Given the description of an element on the screen output the (x, y) to click on. 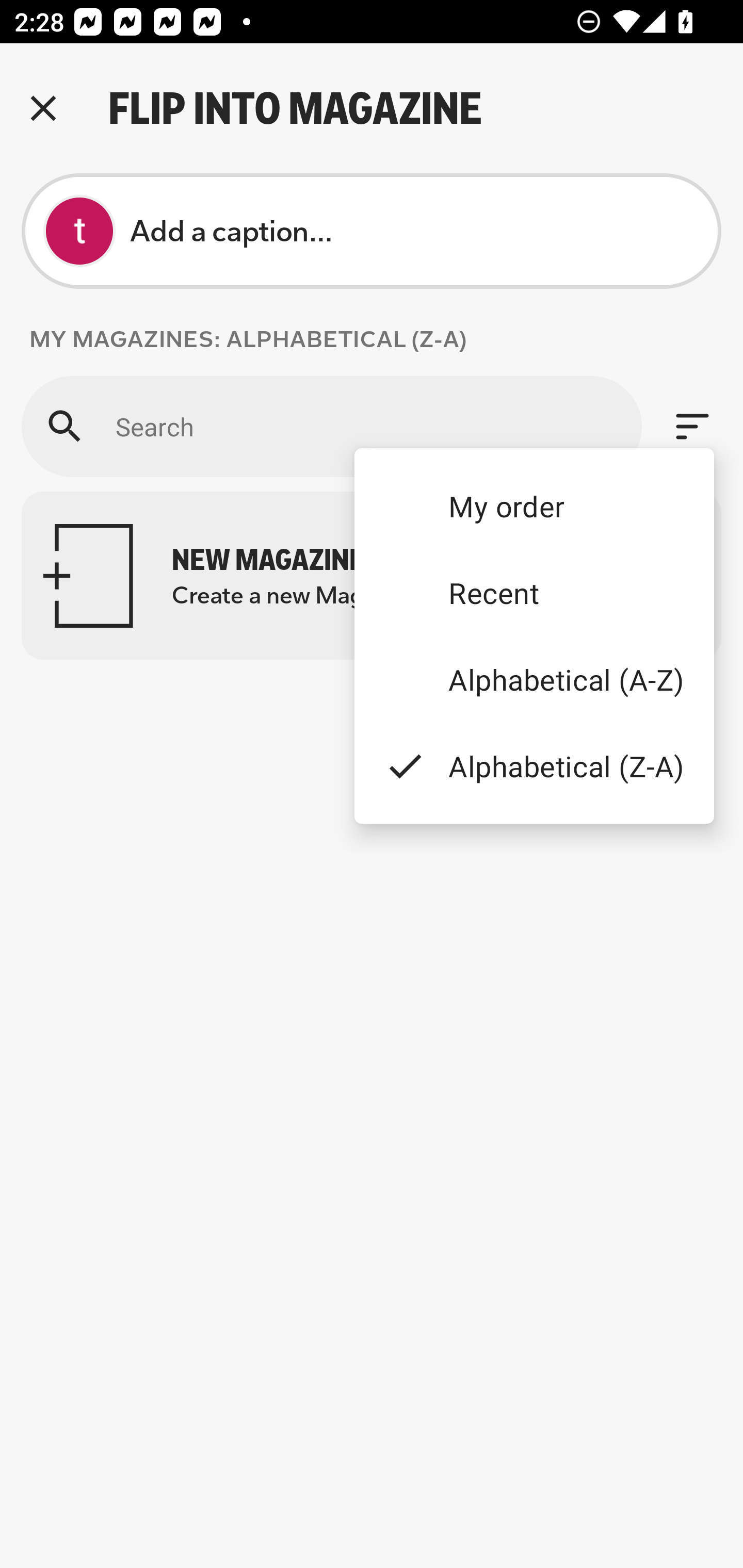
My order (534, 505)
Recent (534, 592)
Alphabetical (A-Z) (534, 679)
Alphabetical (Z-A) (534, 765)
